Given the description of an element on the screen output the (x, y) to click on. 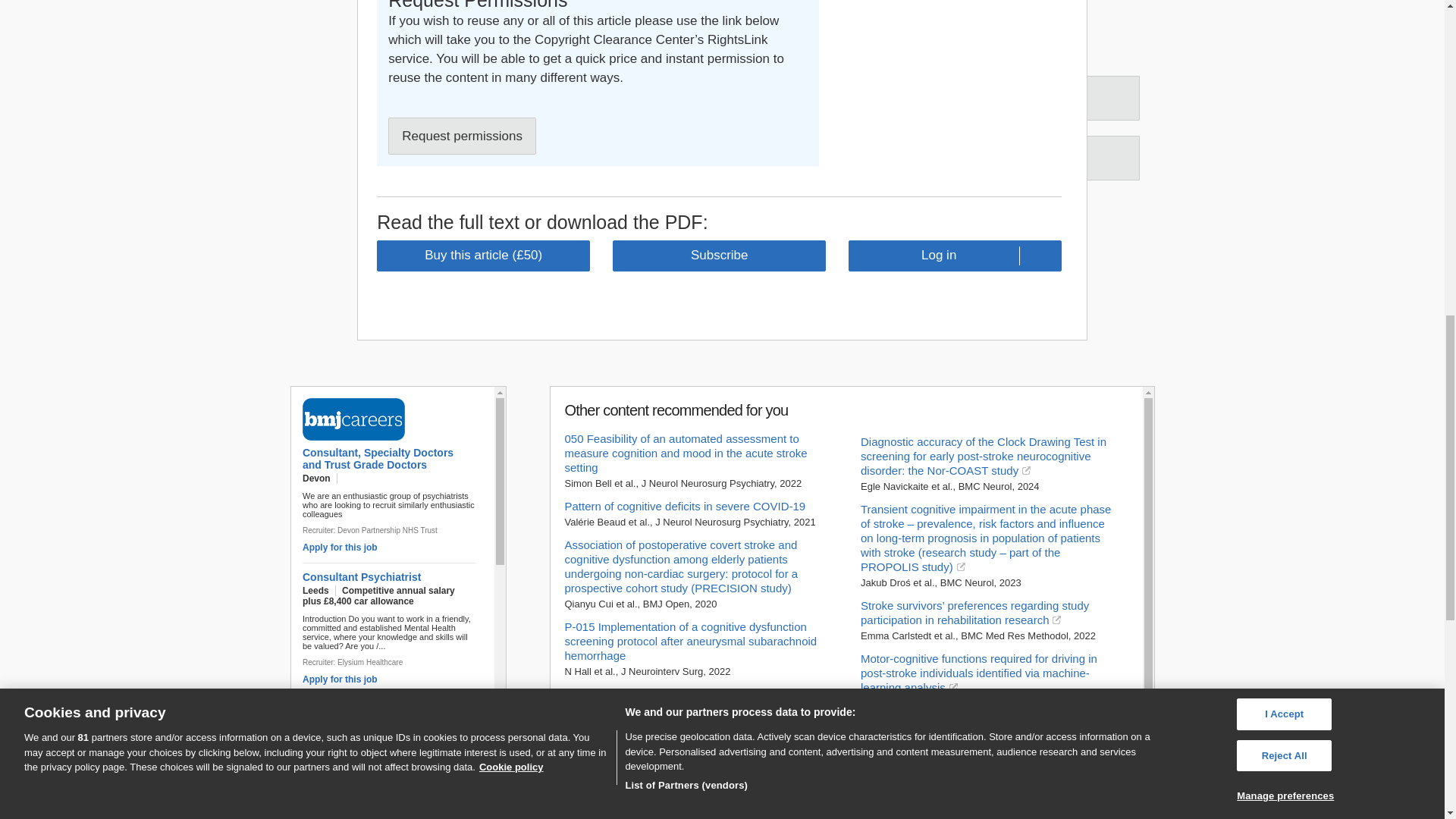
careers widget (397, 574)
3rd party ad content (947, 60)
